Given the description of an element on the screen output the (x, y) to click on. 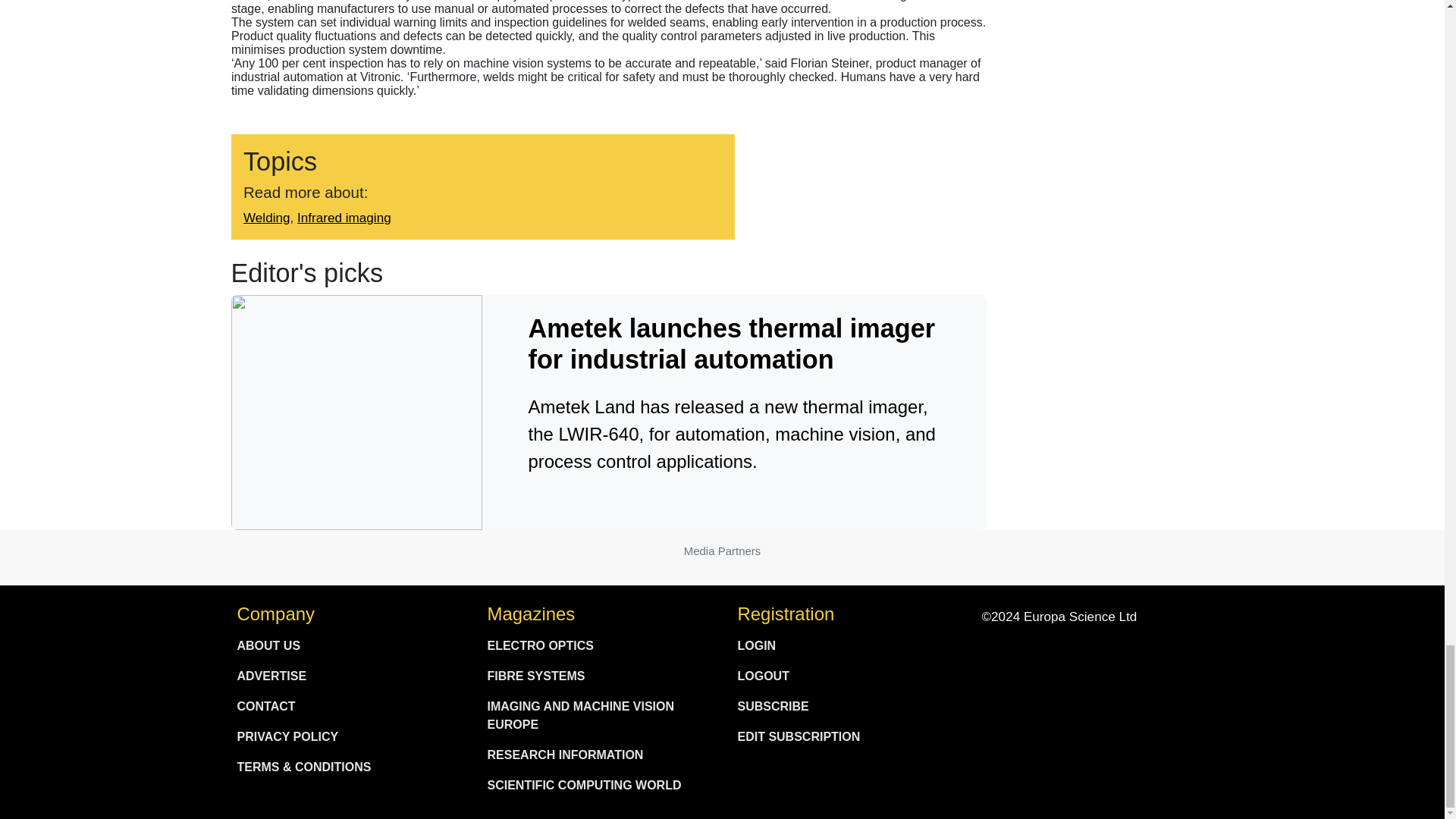
Infrared imaging (344, 216)
Welding (266, 216)
